Given the description of an element on the screen output the (x, y) to click on. 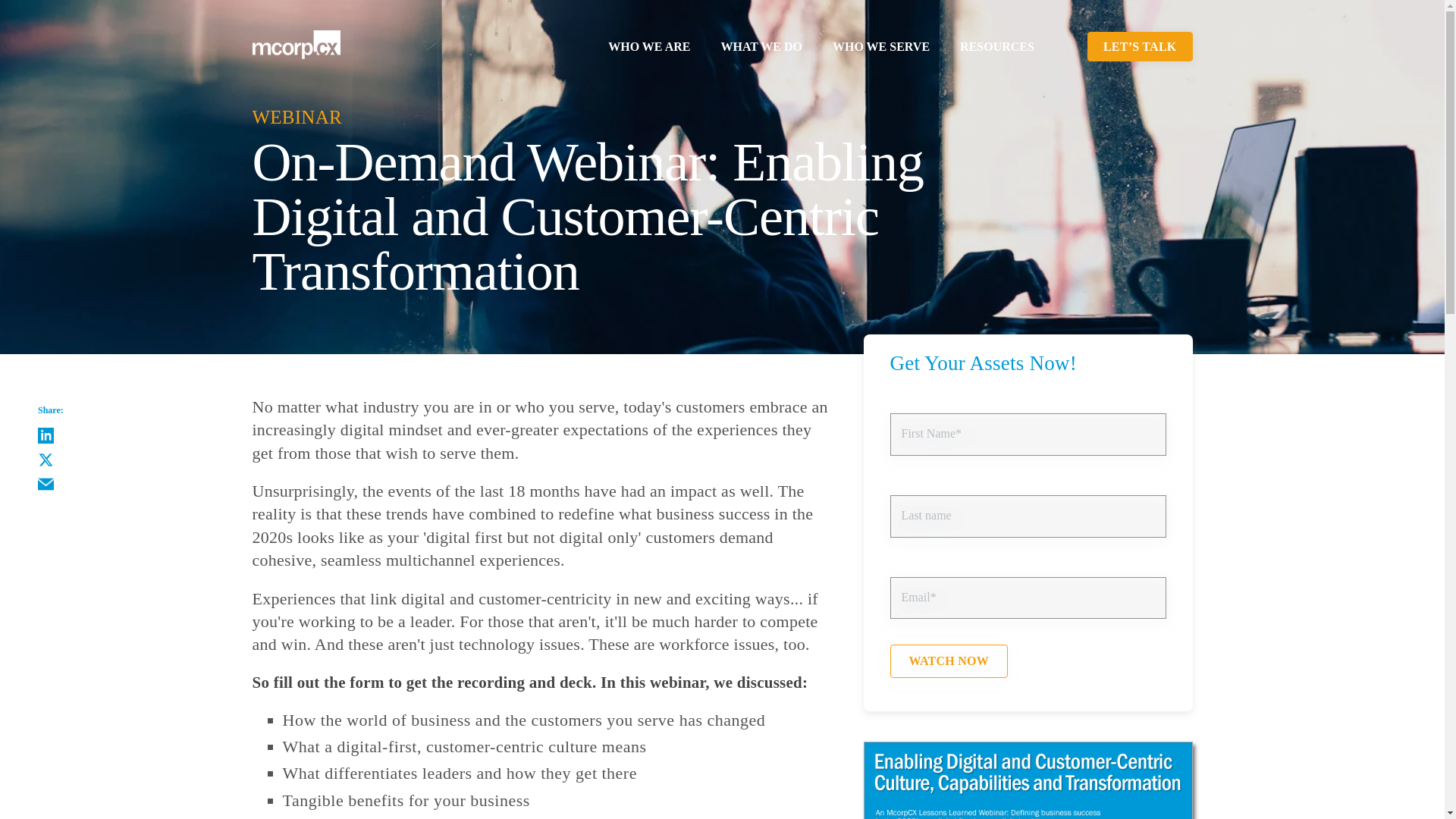
WHO WE ARE (648, 46)
WHO WE SERVE (881, 46)
Watch Now (949, 661)
RESOURCES (997, 46)
WHAT WE DO (761, 46)
